Given the description of an element on the screen output the (x, y) to click on. 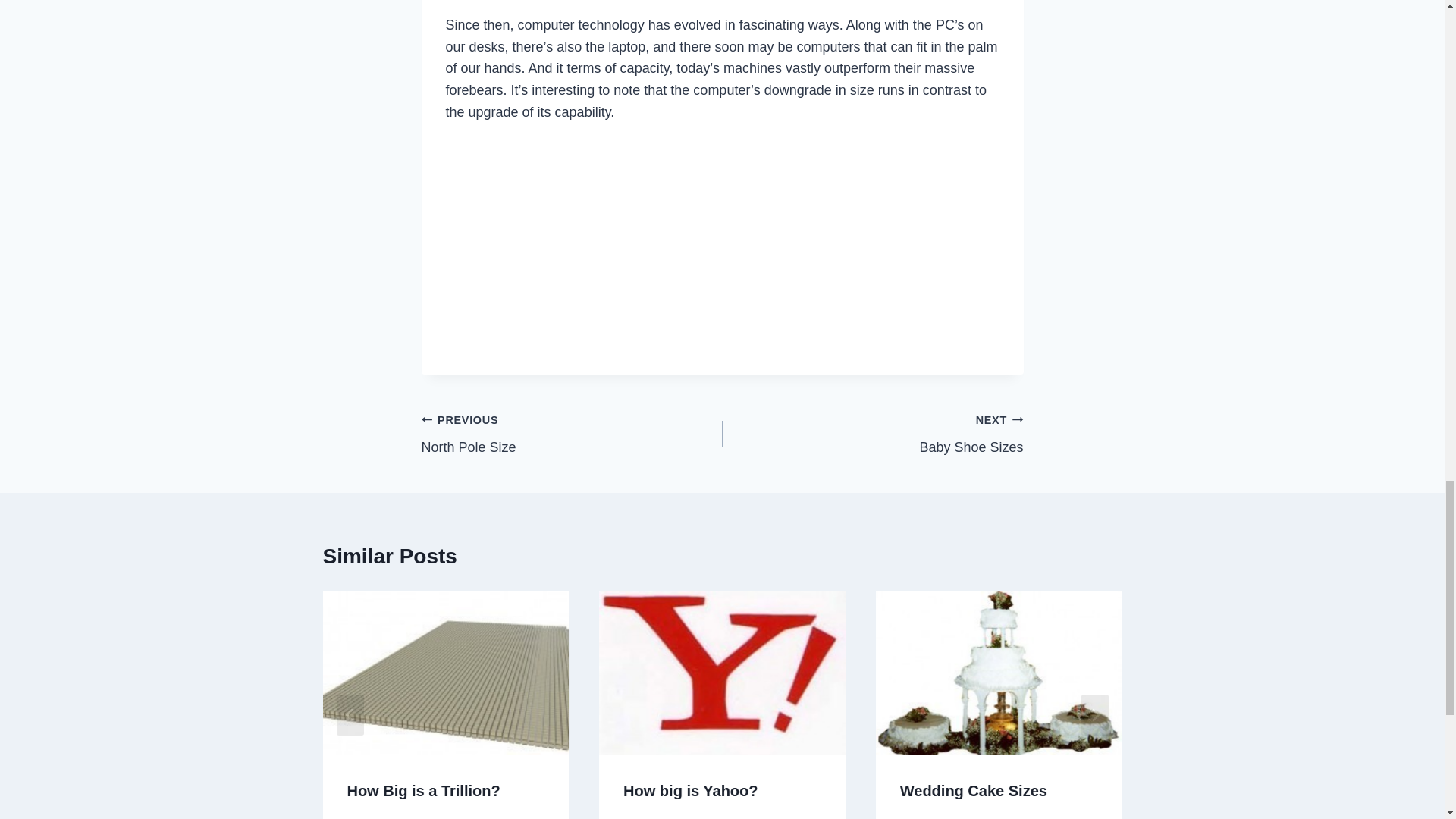
Advertisement (872, 433)
